Given the description of an element on the screen output the (x, y) to click on. 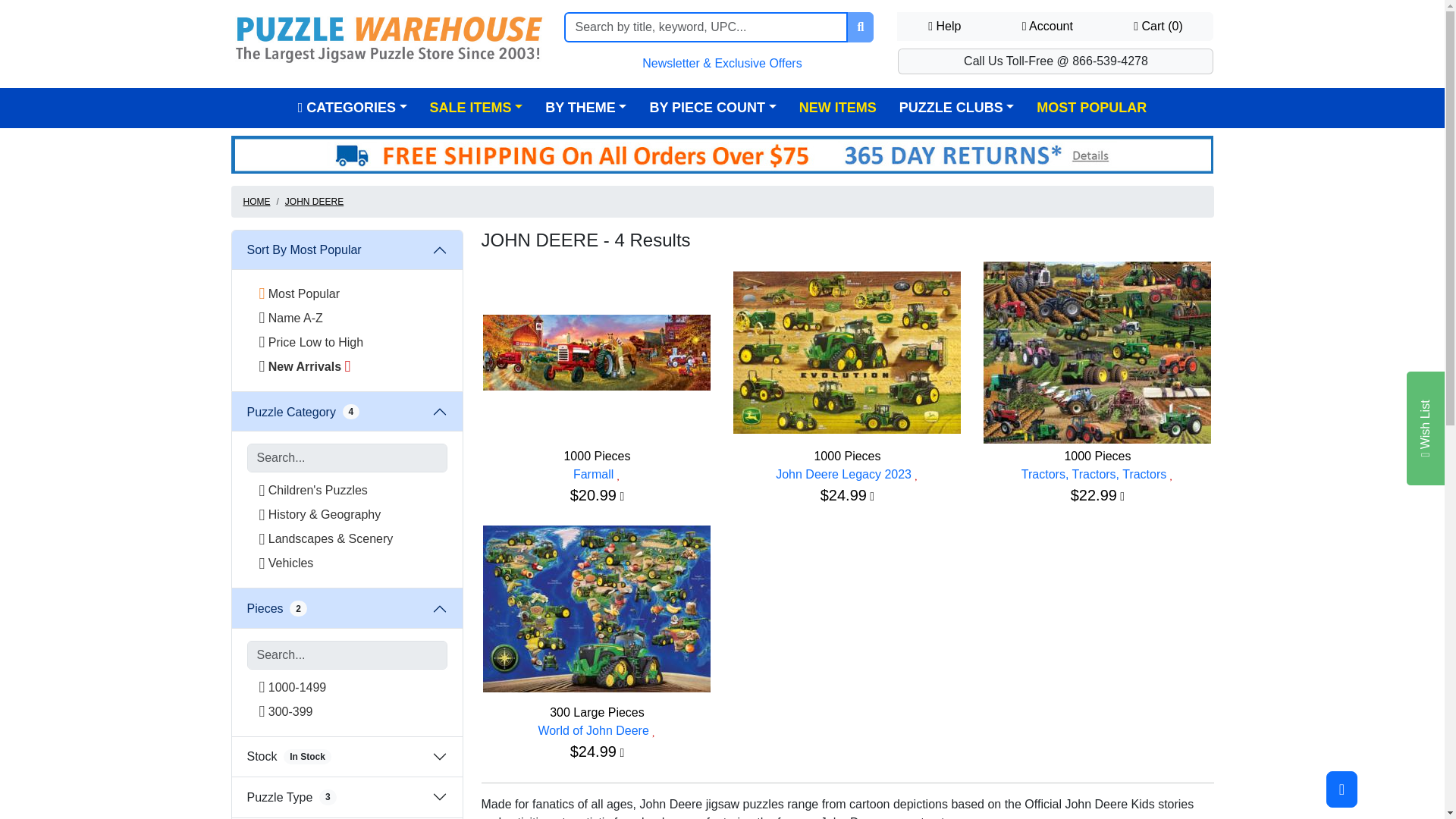
Farmall John Deere Panoramic Puzzle By MasterPieces (596, 352)
World of John Deere John Deere Large Piece By Ravensburger (596, 608)
